Given the description of an element on the screen output the (x, y) to click on. 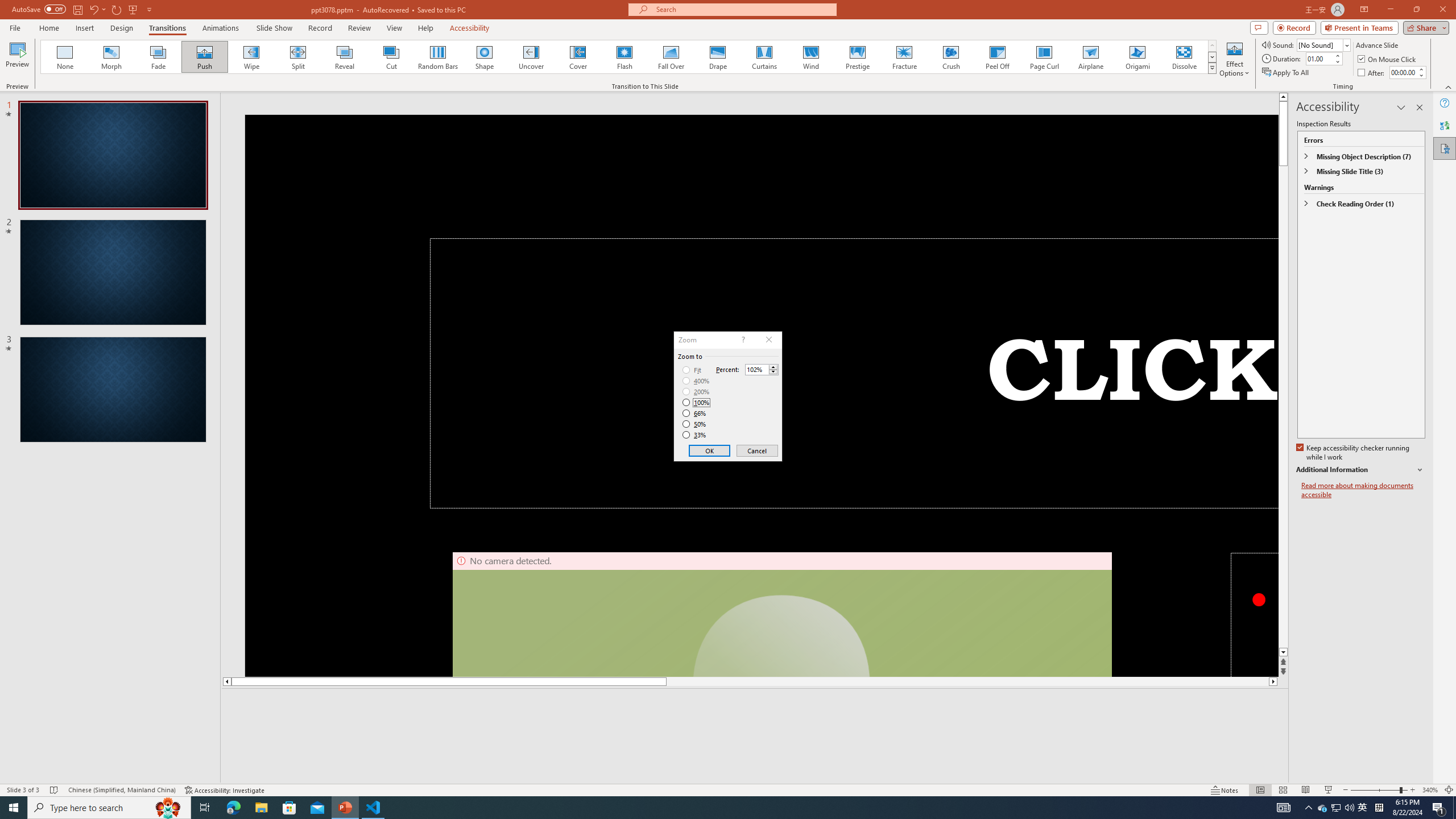
Task View (204, 807)
33% (694, 434)
Visual Studio Code - 1 running window (373, 807)
Reveal (344, 56)
Crush (950, 56)
Push (205, 56)
Microsoft Store (289, 807)
